Given the description of an element on the screen output the (x, y) to click on. 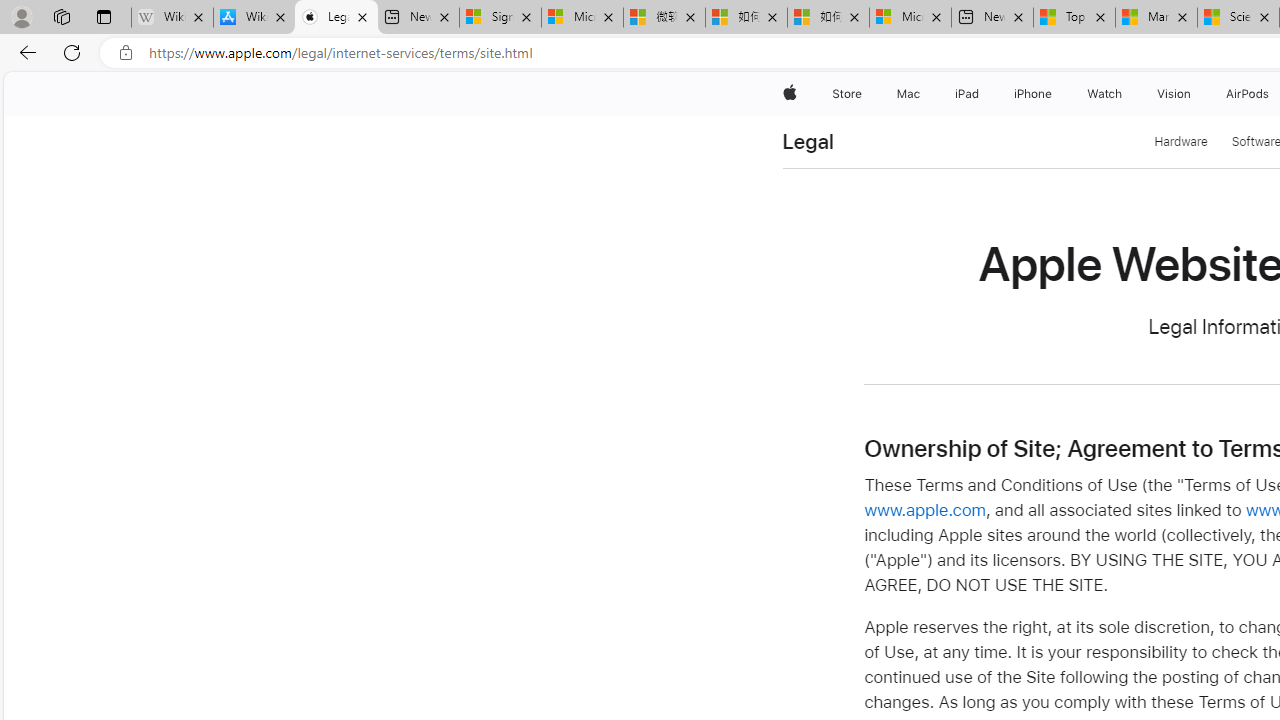
Mac (908, 93)
www.apple.com (924, 510)
Hardware (1181, 141)
Store (846, 93)
Vision (1174, 93)
Microsoft account | Account Checkup (910, 17)
Class: globalnav-submenu-trigger-item (1195, 93)
Apple (789, 93)
